Given the description of an element on the screen output the (x, y) to click on. 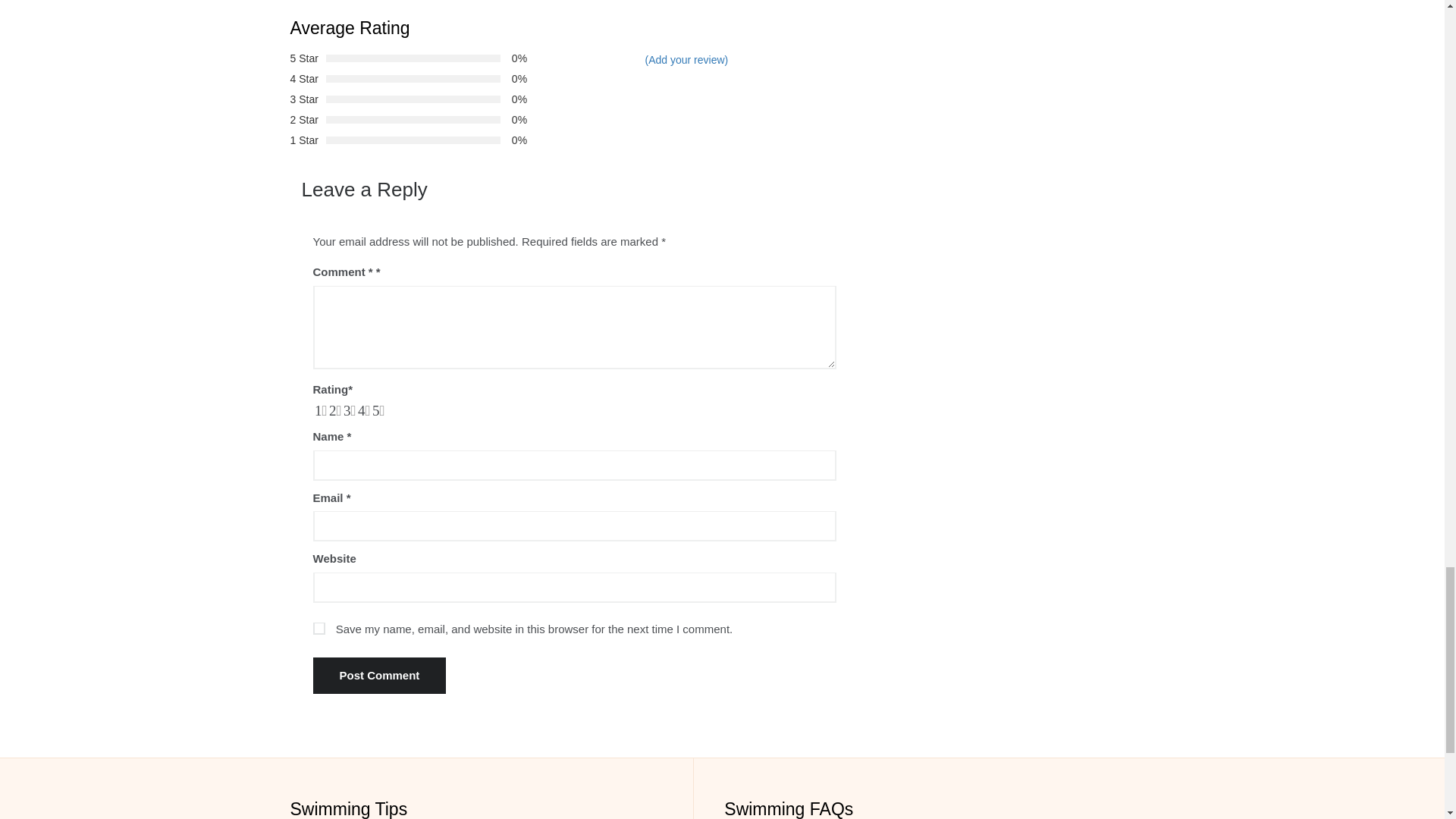
Post Comment (379, 675)
yes (318, 628)
Post Comment (379, 675)
